Given the description of an element on the screen output the (x, y) to click on. 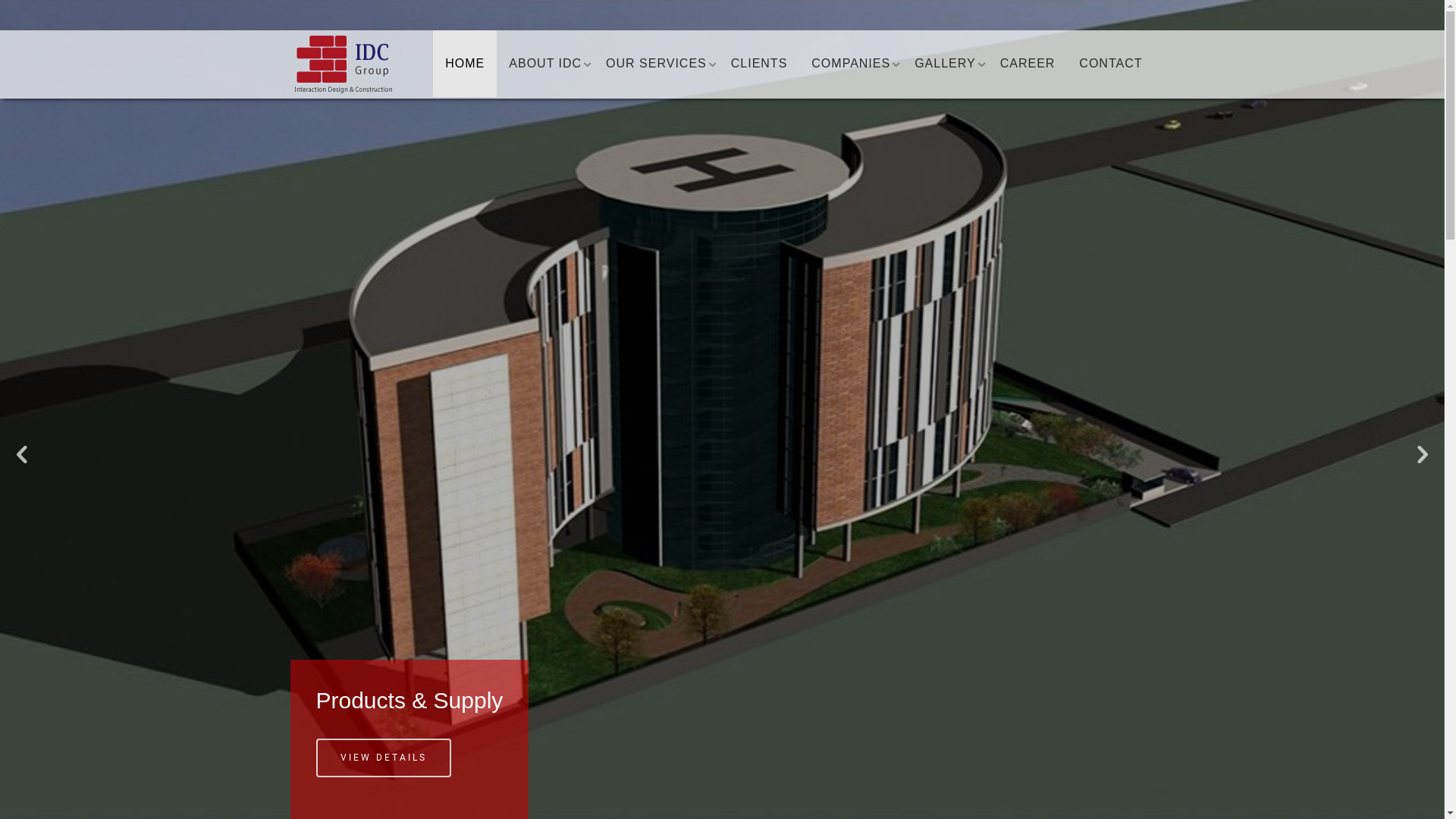
ABOUT IDC Element type: text (544, 63)
COMPANIES Element type: text (850, 63)
CAREER Element type: text (1027, 63)
GALLERY Element type: text (945, 63)
VIEW DETAILS Element type: text (382, 757)
OUR SERVICES Element type: text (655, 63)
CLIENTS Element type: text (759, 63)
Previous Element type: text (22, 454)
HOME Element type: text (464, 63)
Next Element type: text (1421, 454)
CONTACT Element type: text (1110, 63)
